Given the description of an element on the screen output the (x, y) to click on. 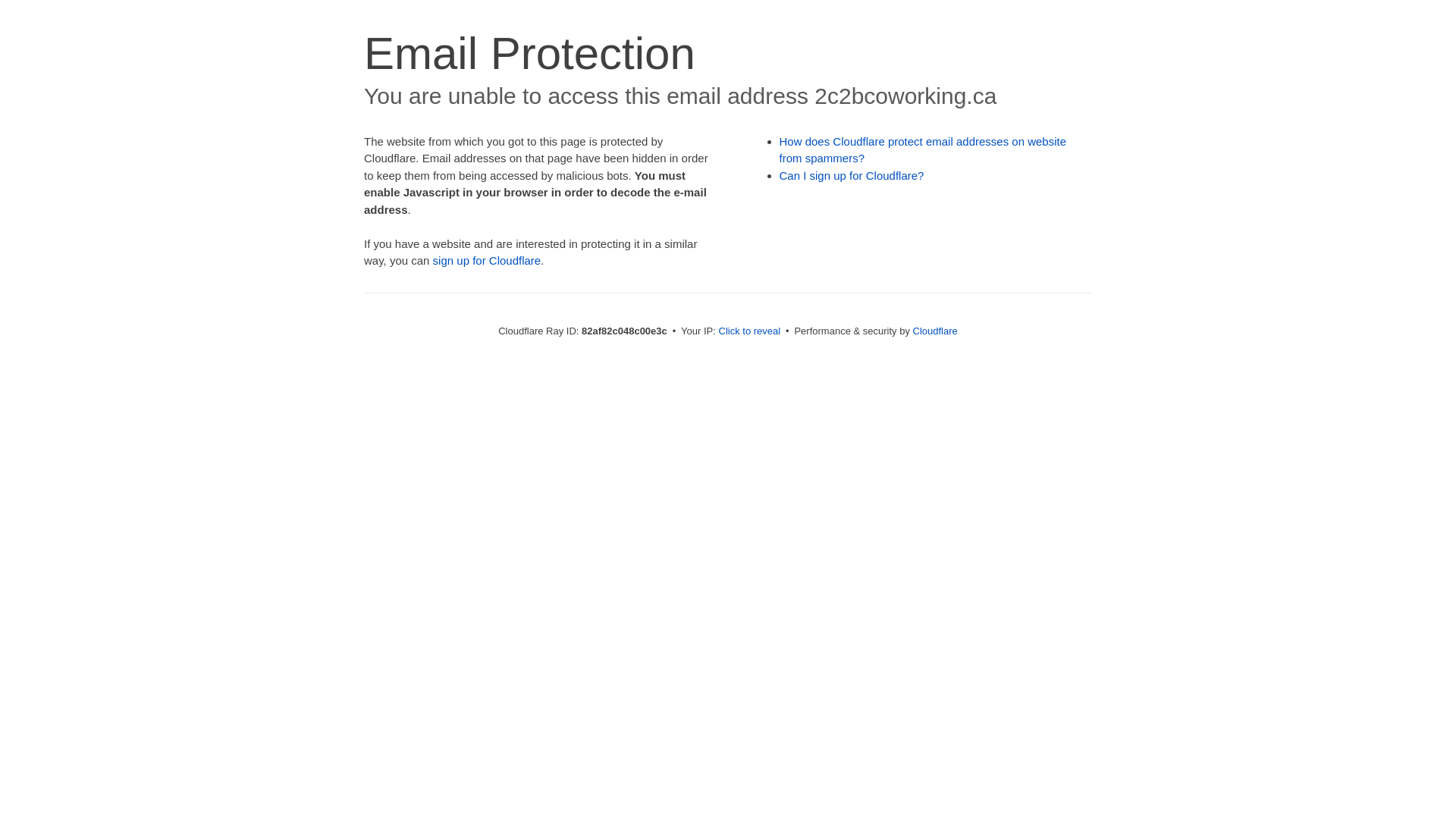
Click to reveal Element type: text (749, 330)
sign up for Cloudflare Element type: text (487, 260)
Cloudflare Element type: text (935, 330)
Can I sign up for Cloudflare? Element type: text (851, 175)
